Given the description of an element on the screen output the (x, y) to click on. 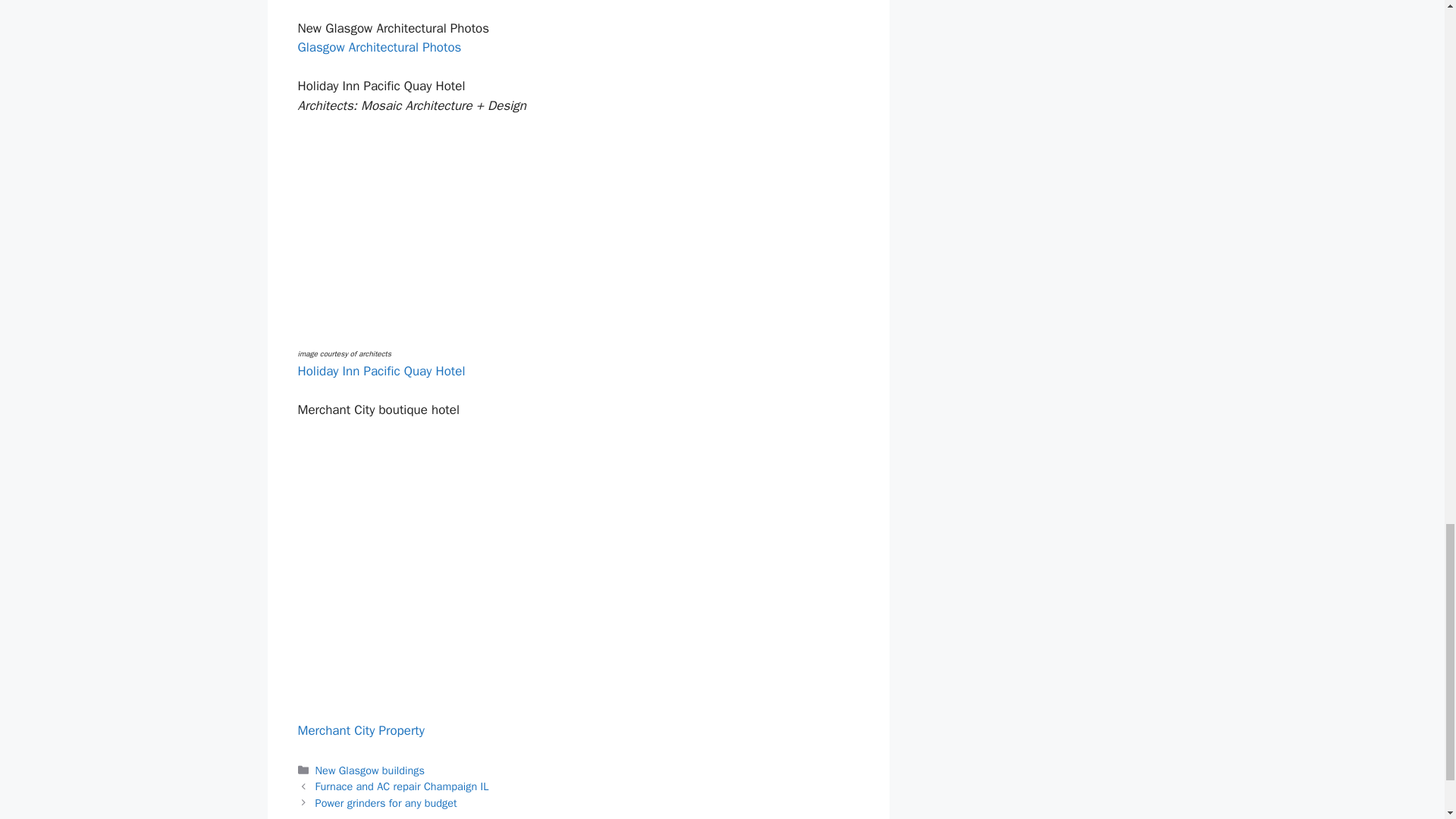
Power grinders for any budget (386, 802)
Furnace and AC repair Champaign IL (402, 786)
Glasgow Architectural Photos (379, 47)
New Glasgow buildings (370, 770)
Holiday Inn Pacific Quay Hotel (380, 371)
Merchant City Property (360, 730)
